Given the description of an element on the screen output the (x, y) to click on. 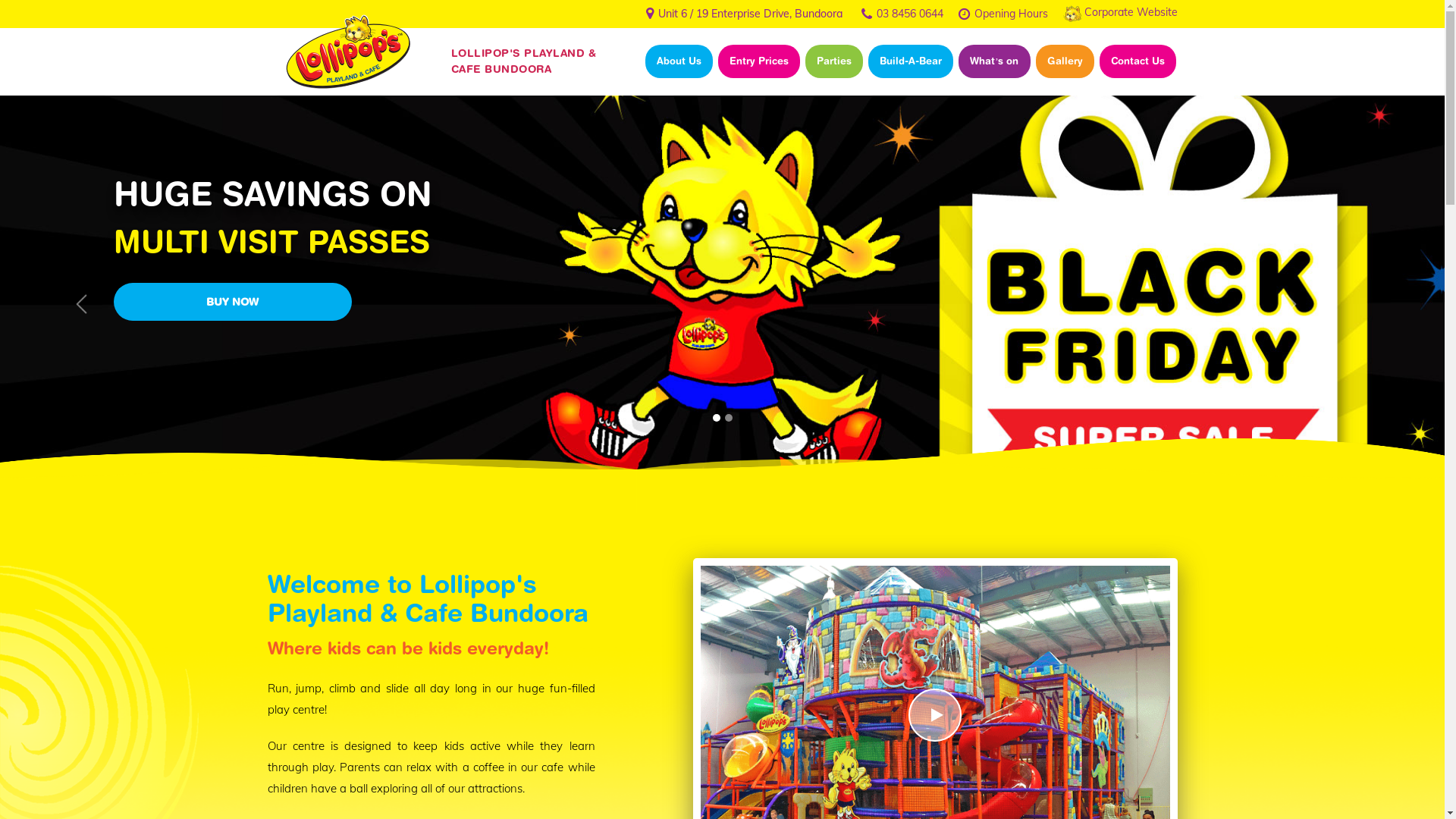
Previous Element type: text (81, 303)
BUY NOW Element type: text (232, 301)
Contact Us Element type: text (1137, 61)
About Us Element type: text (678, 61)
Entry Prices Element type: text (759, 61)
03 8456 0644 Element type: text (909, 12)
Gallery Element type: text (1064, 61)
Opening Hours Element type: text (1010, 12)
Parties Element type: text (833, 61)
Unit 6 / 19 Enterprise Drive, Bundoora Element type: text (750, 13)
Corporate Website Element type: text (1130, 11)
Next Element type: text (1290, 303)
Build-A-Bear Element type: text (910, 61)
